Given the description of an element on the screen output the (x, y) to click on. 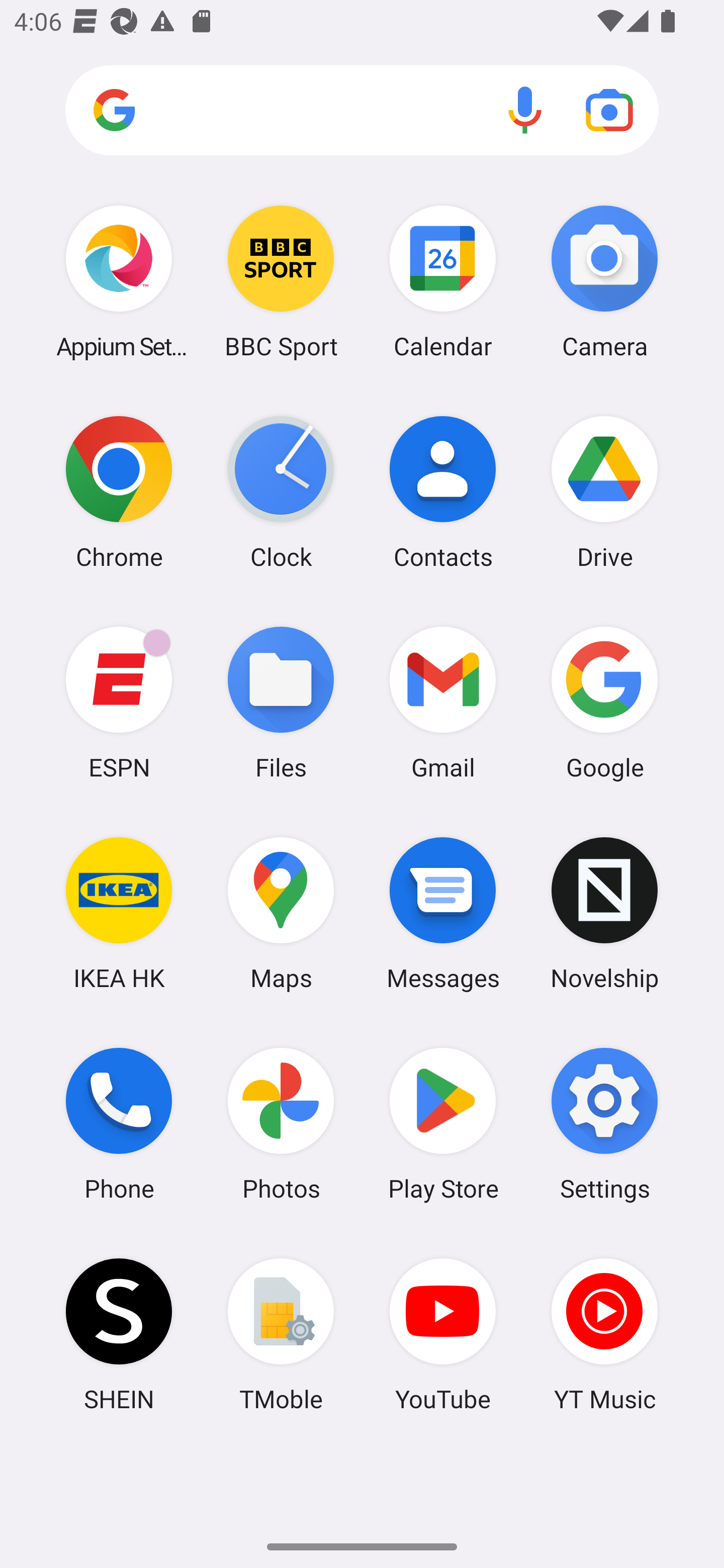
Search apps, web and more (361, 110)
Voice search (524, 109)
Google Lens (608, 109)
Appium Settings (118, 281)
BBC Sport (280, 281)
Calendar (443, 281)
Camera (604, 281)
Chrome (118, 492)
Clock (280, 492)
Contacts (443, 492)
Drive (604, 492)
ESPN ESPN has 3 notifications (118, 702)
Files (280, 702)
Gmail (443, 702)
Google (604, 702)
IKEA HK (118, 913)
Maps (280, 913)
Messages (443, 913)
Novelship (604, 913)
Phone (118, 1124)
Photos (280, 1124)
Play Store (443, 1124)
Settings (604, 1124)
SHEIN (118, 1334)
TMoble (280, 1334)
YouTube (443, 1334)
YT Music (604, 1334)
